Given the description of an element on the screen output the (x, y) to click on. 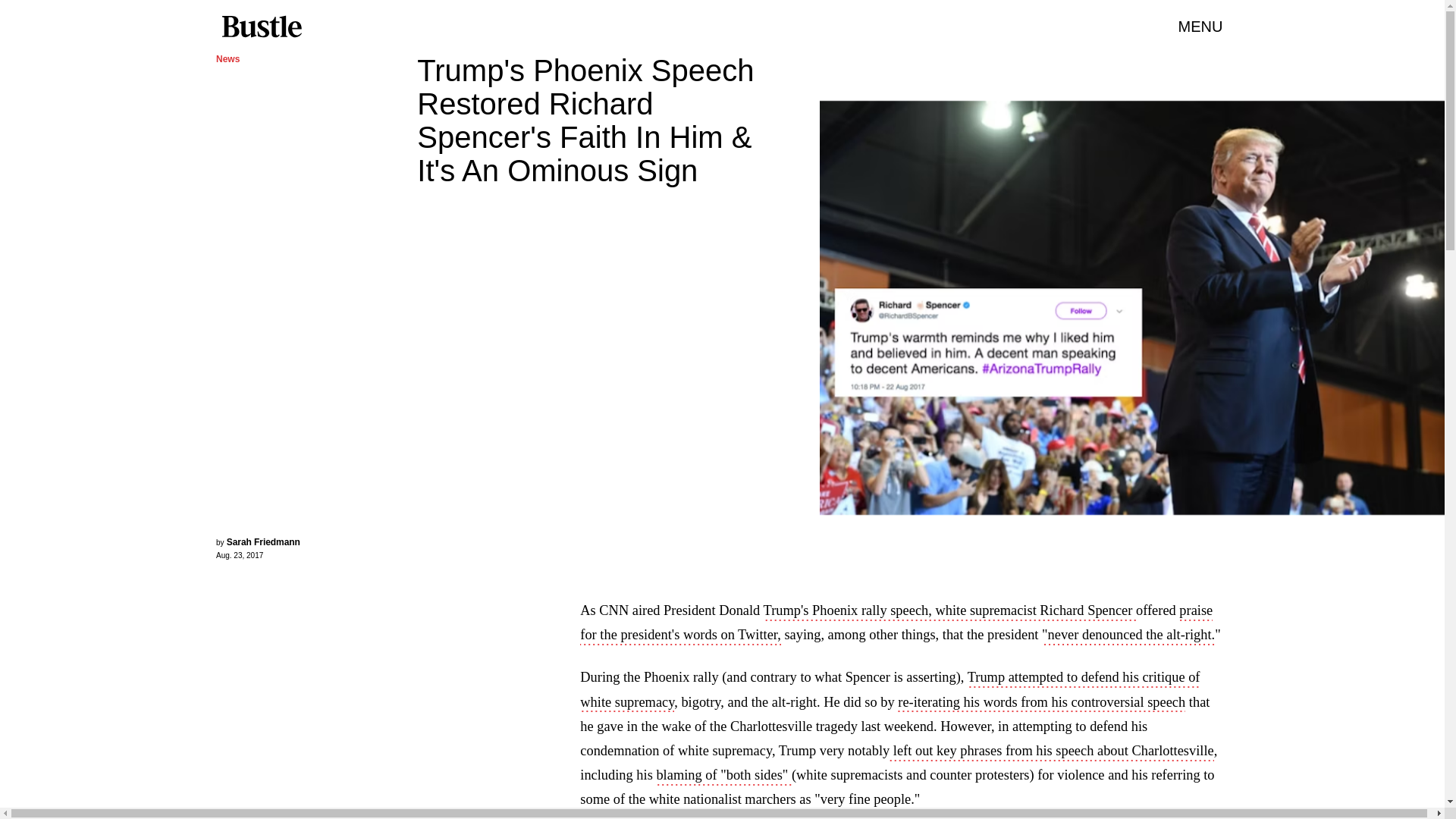
"never denounced the alt-right. (1128, 636)
"very fine people." (866, 800)
praise for the president's words on Twitter, (895, 623)
re-iterating his words from his controversial speech (1041, 703)
blaming of "both sides" (723, 776)
Bustle (261, 26)
Trump attempted to defend his critique of white supremacy (889, 690)
left out key phrases from his speech about Charlottesville (1050, 751)
Sarah Friedmann (263, 542)
